Given the description of an element on the screen output the (x, y) to click on. 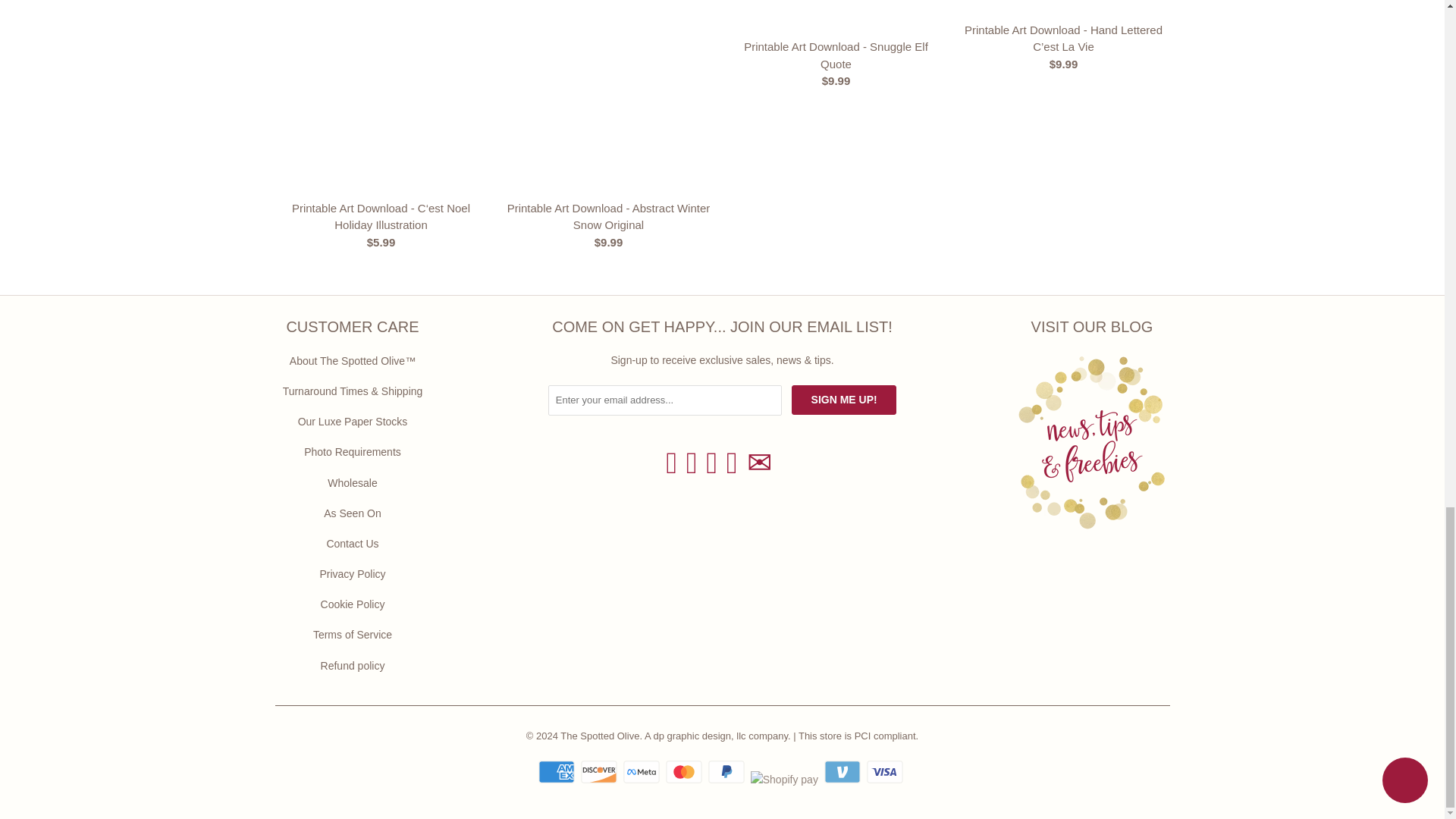
Wholesale (352, 482)
Photo Requirements (352, 451)
Sign Me Up! (844, 399)
Our Luxe Paper Stocks (352, 421)
